Given the description of an element on the screen output the (x, y) to click on. 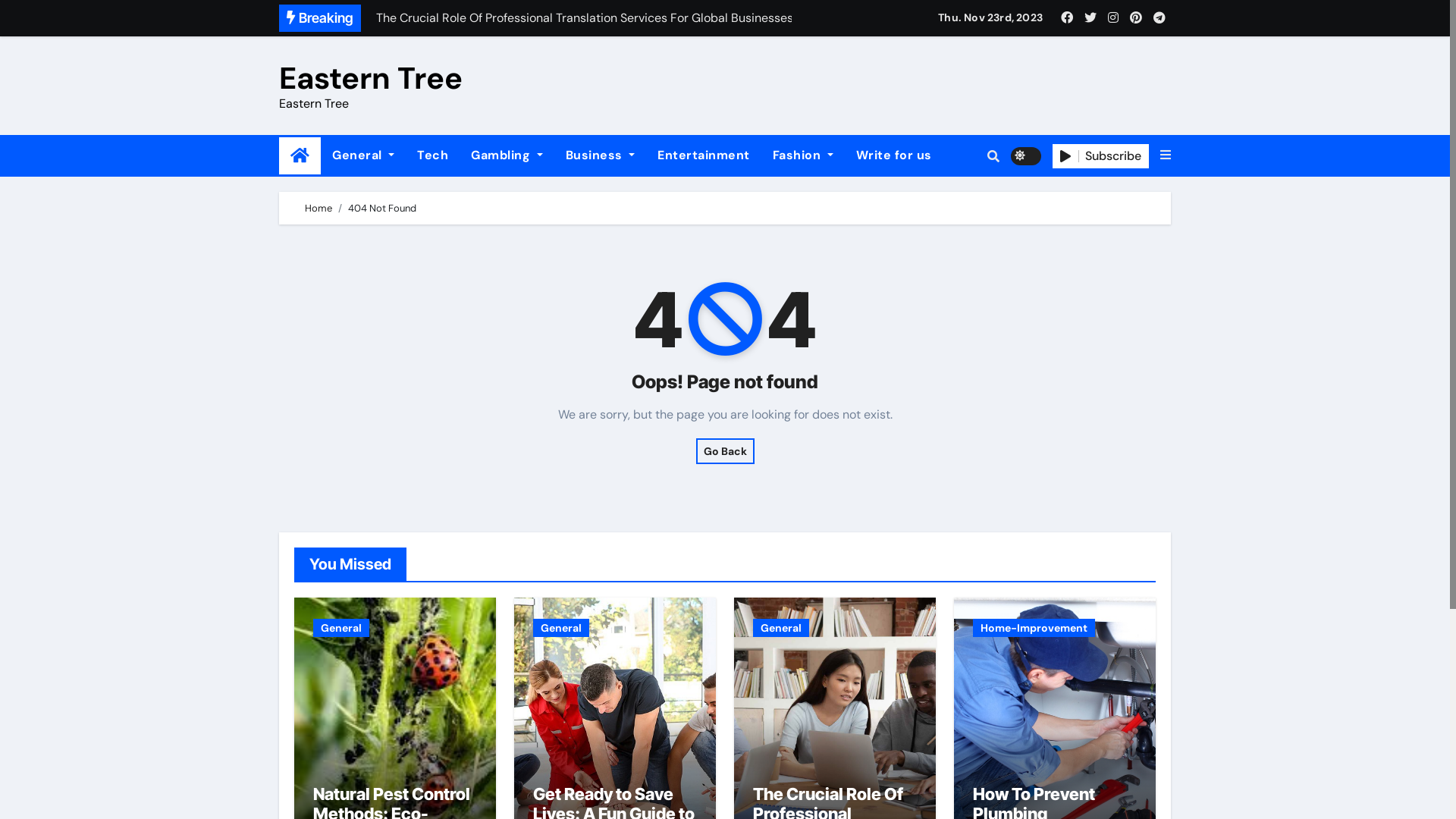
General Element type: text (781, 627)
Eastern Tree Element type: text (370, 77)
Go Back Element type: text (725, 451)
General Element type: text (362, 155)
Subscribe Element type: text (1100, 156)
Tech Element type: text (432, 155)
Home Element type: hover (299, 155)
General Element type: text (561, 627)
Entertainment Element type: text (703, 155)
Home Element type: text (318, 207)
Gambling Element type: text (506, 155)
Home-Improvement Element type: text (1033, 627)
Fashion Element type: text (802, 155)
Business Element type: text (600, 155)
General Element type: text (341, 627)
Write for us Element type: text (893, 155)
